Given the description of an element on the screen output the (x, y) to click on. 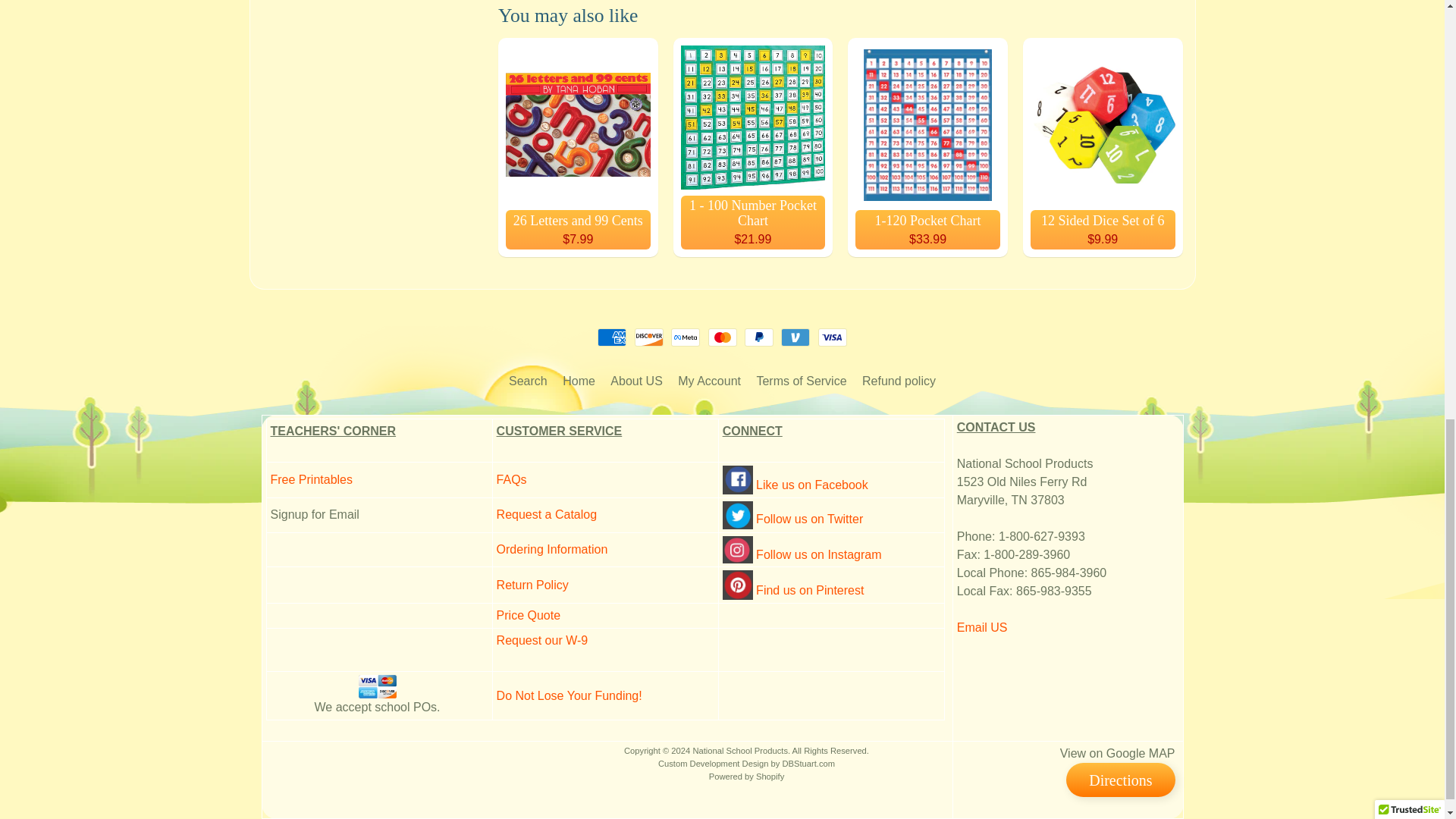
12 Sided Dice Set of 6 (1102, 147)
Request a Catalog (546, 513)
Frequency Asked Questions (511, 479)
Meta Pay (685, 337)
Visa (832, 337)
Discover (648, 337)
American Express (611, 337)
1 - 100 Number Pocket Chart (752, 147)
Venmo (794, 337)
PayPal (758, 337)
1-120 Pocket Chart (927, 147)
Order Return Policy (532, 584)
26 Letters and 99 Cents (577, 147)
Free PDF Printables (310, 479)
Send for Price Quote (528, 615)
